Given the description of an element on the screen output the (x, y) to click on. 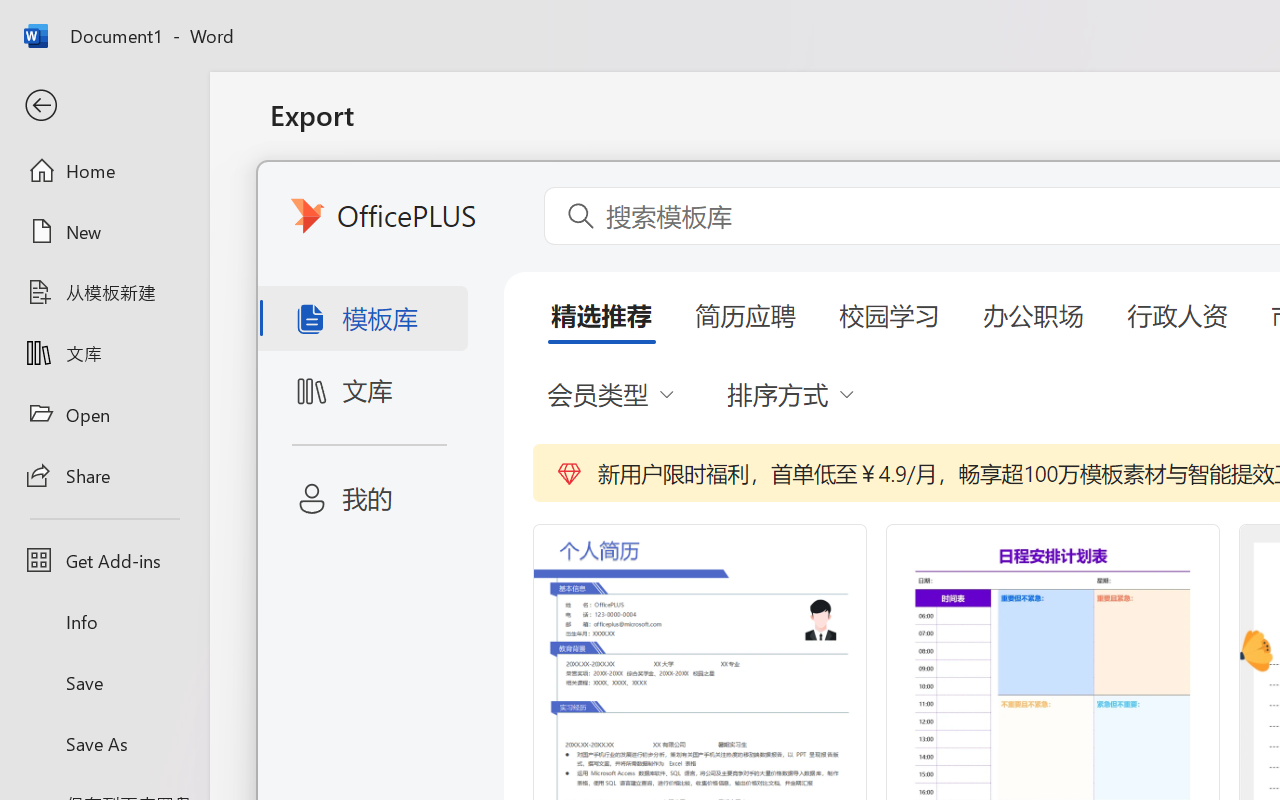
System (10, 12)
Researcher Engagement (1038, 132)
System (10, 12)
Sign in - Google Accounts (1055, 22)
Who is my administrator? - Google Account Help (648, 22)
Google News (104, 22)
View site information (136, 69)
